Given the description of an element on the screen output the (x, y) to click on. 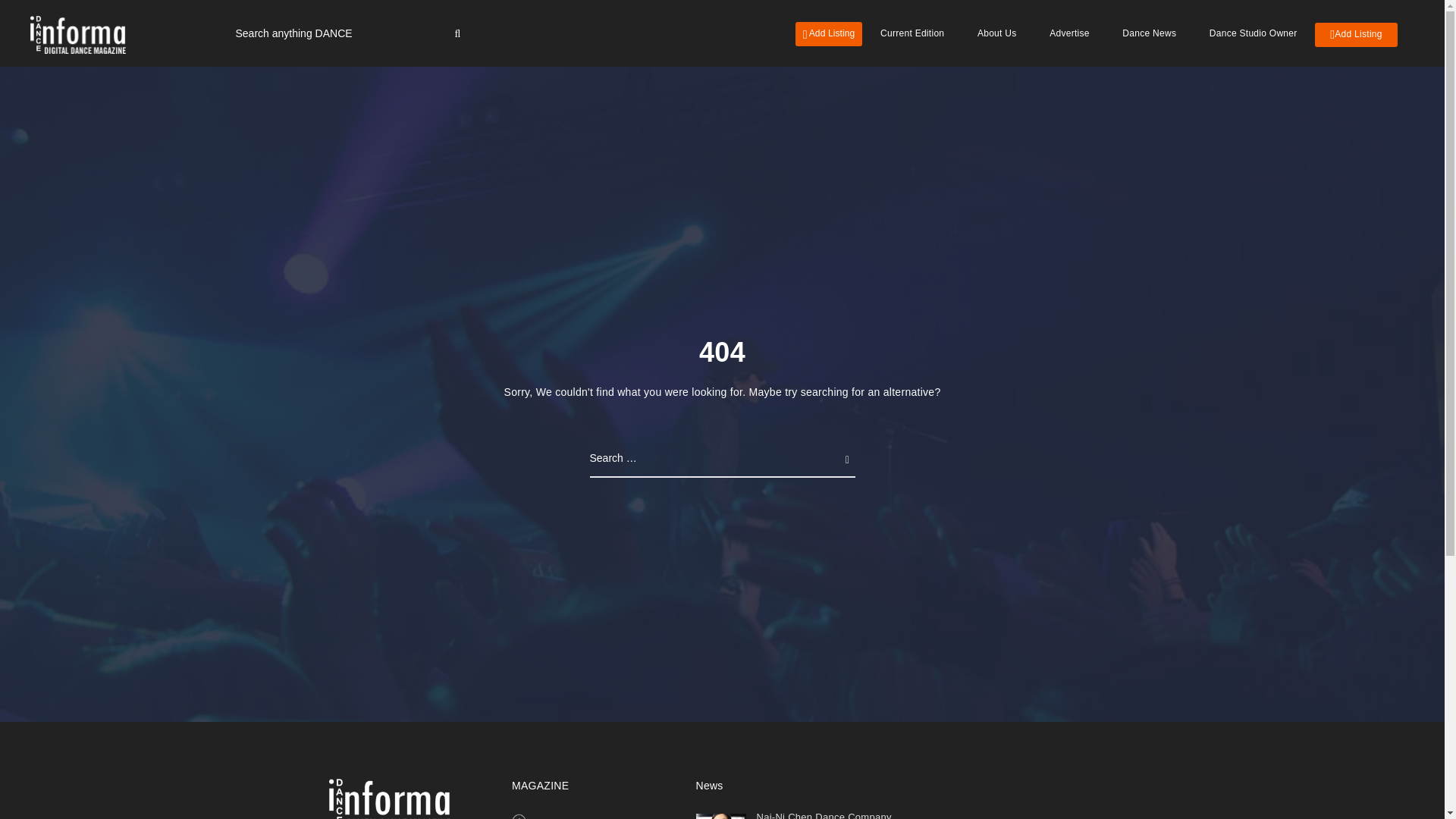
Advertise (1069, 33)
Current Edition (569, 817)
Add Listing (828, 33)
Current Edition (911, 33)
Add Listing (1355, 34)
Dance Studio Owner (1253, 33)
Dance News (1148, 33)
About Us (997, 33)
